Given the description of an element on the screen output the (x, y) to click on. 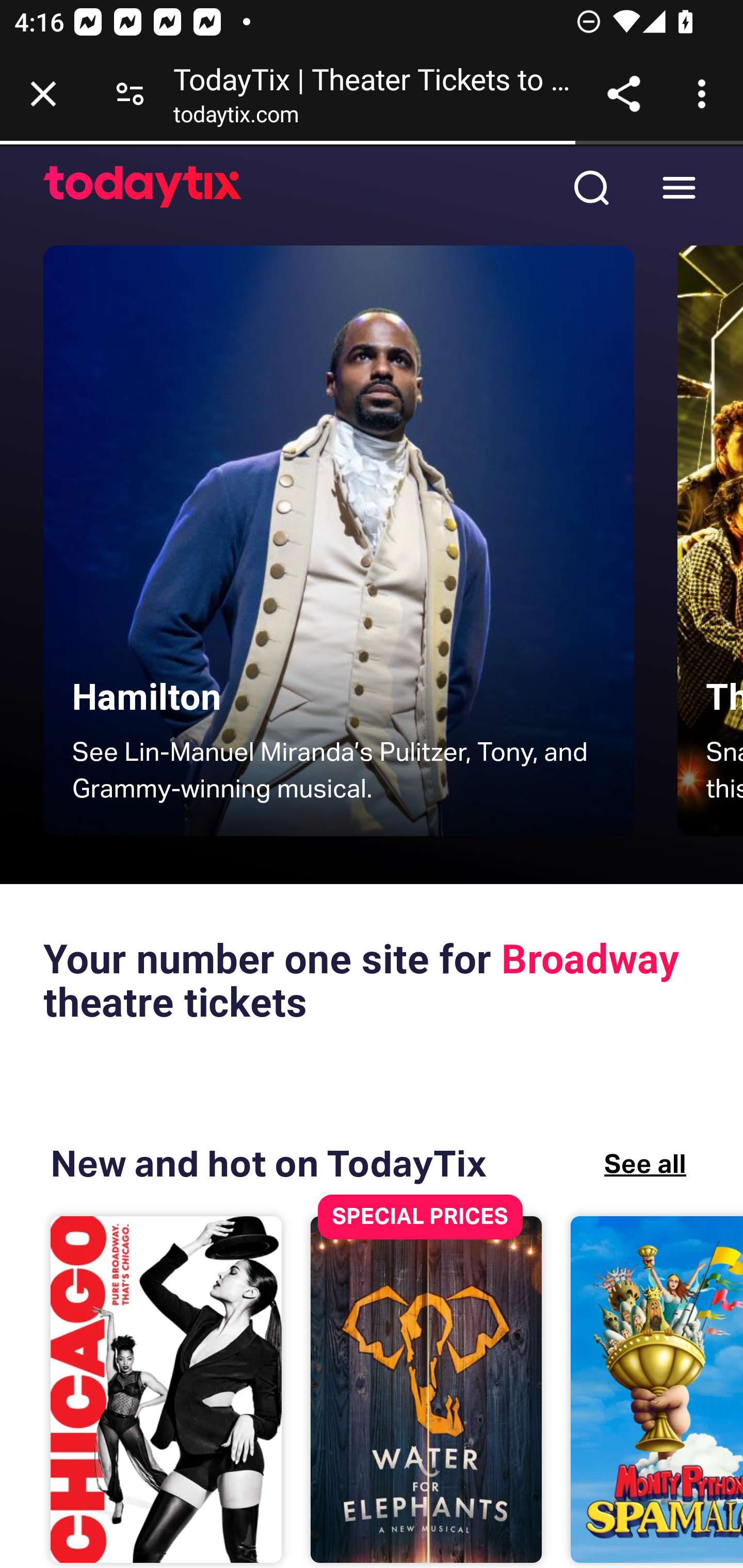
Close tab (43, 93)
Share link address (623, 93)
Customize and control Google Chrome (705, 93)
Connection is secure (129, 93)
todaytix.com (236, 117)
